Given the description of an element on the screen output the (x, y) to click on. 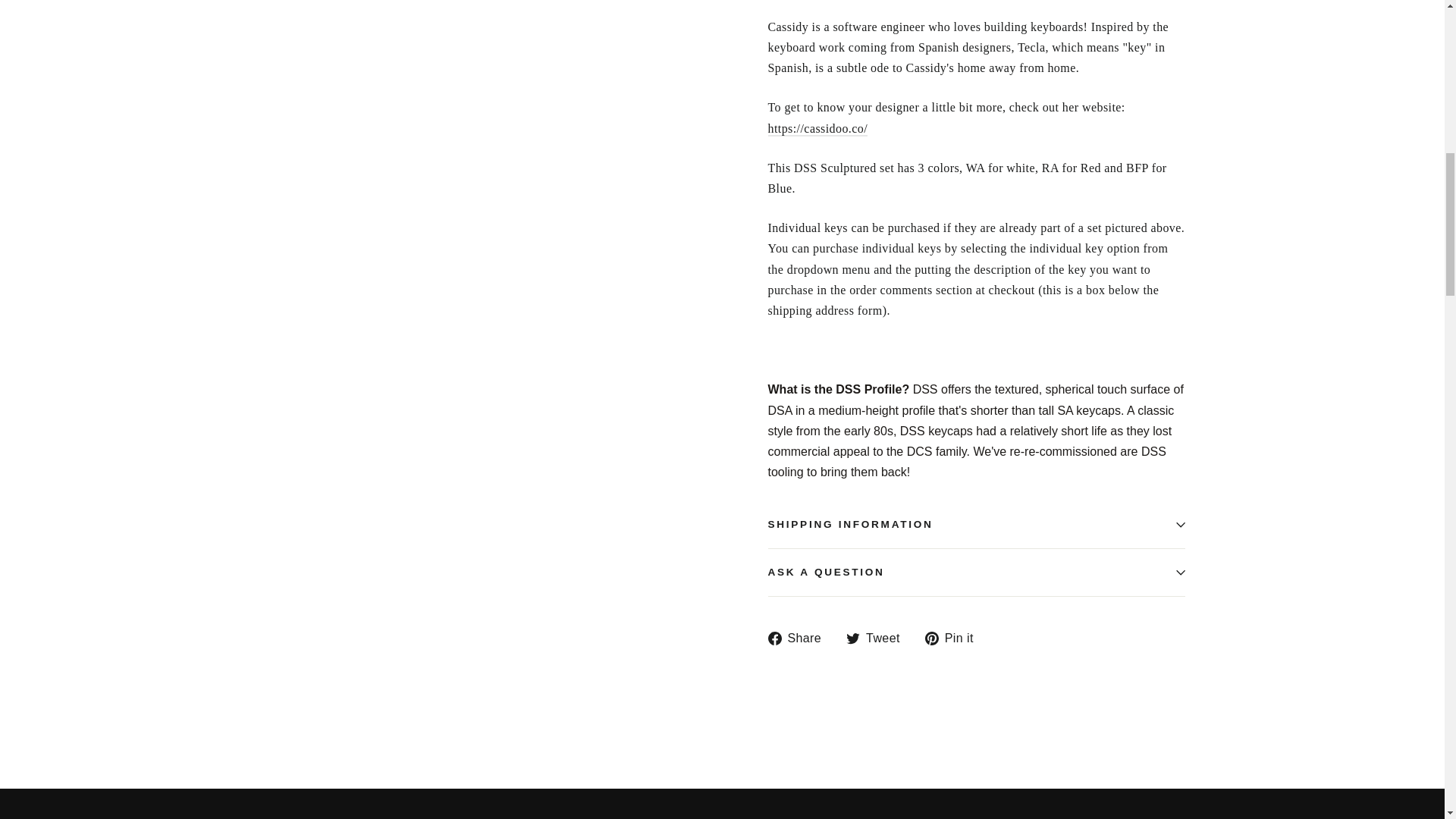
Pin on Pinterest (954, 638)
Tweet on Twitter (878, 638)
Share on Facebook (799, 638)
twitter (852, 638)
